Given the description of an element on the screen output the (x, y) to click on. 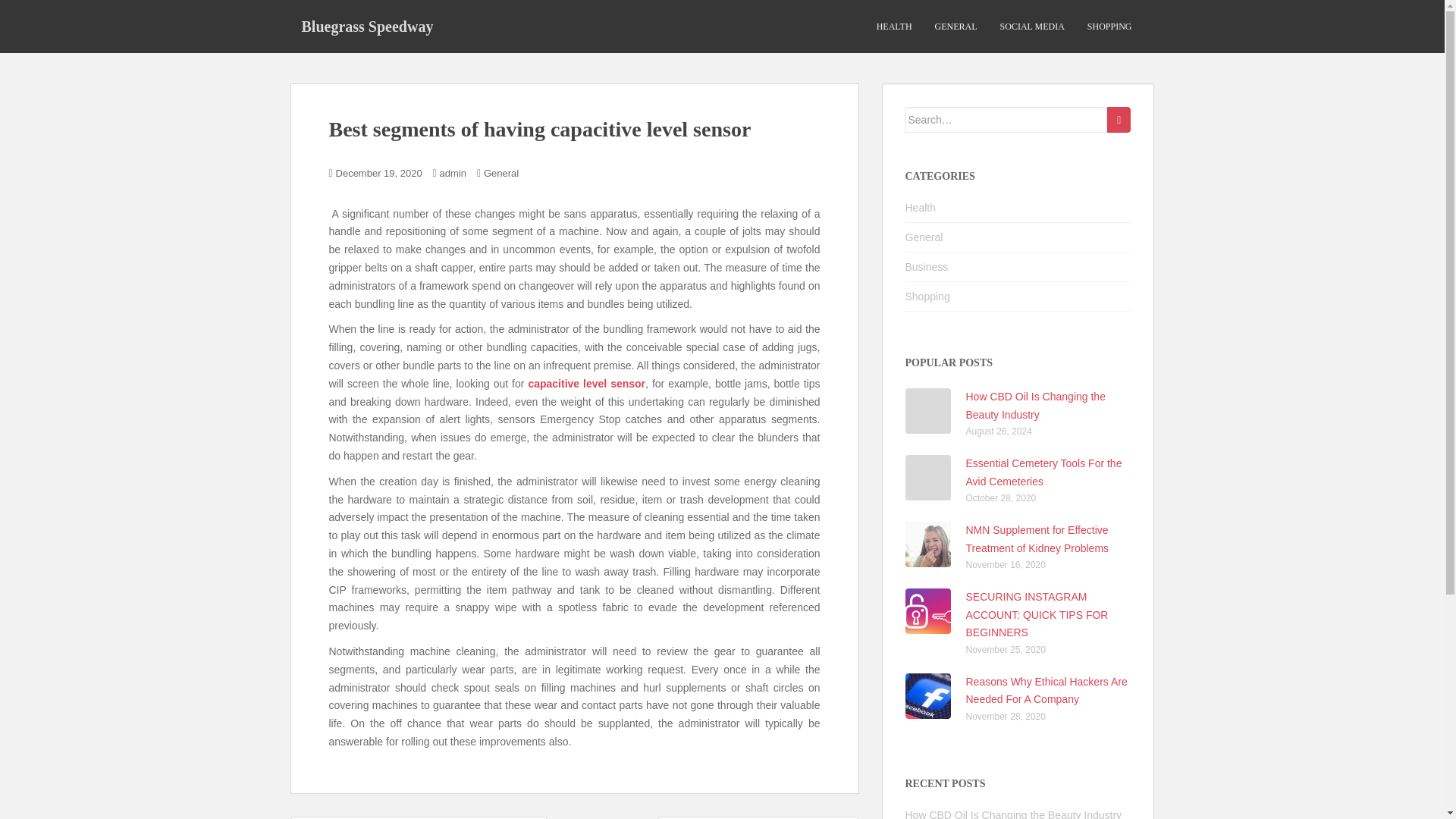
GENERAL (955, 26)
HEALTH (894, 26)
Search (1118, 119)
NMN Supplement for Effective Treatment of Kidney Problems (1037, 539)
General (924, 236)
How CBD Oil Is Changing the Beauty Industry (1013, 814)
admin (452, 173)
SHOPPING (1109, 26)
Bluegrass Speedway (366, 26)
